Given the description of an element on the screen output the (x, y) to click on. 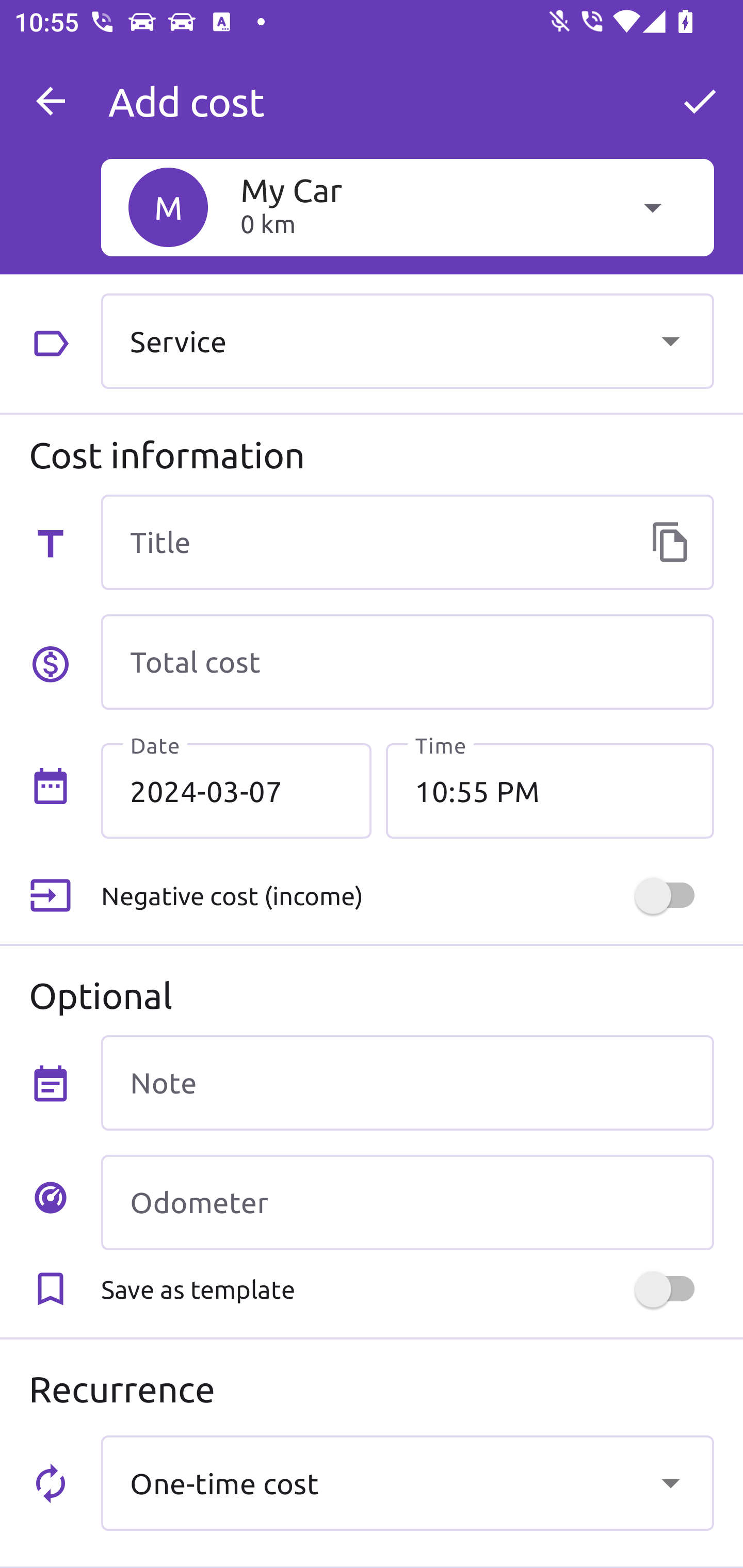
Navigate up (50, 101)
OK (699, 101)
M My Car 0 km (407, 206)
Service (407, 340)
Show dropdown menu (670, 340)
Title (407, 541)
Templates (670, 541)
Total cost  (407, 662)
2024-03-07 (236, 790)
10:55 PM (549, 790)
Negative cost (income) (407, 895)
Note (407, 1082)
Odometer (407, 1202)
Save as template (407, 1289)
One-time cost (407, 1482)
Show dropdown menu (670, 1482)
